Given the description of an element on the screen output the (x, y) to click on. 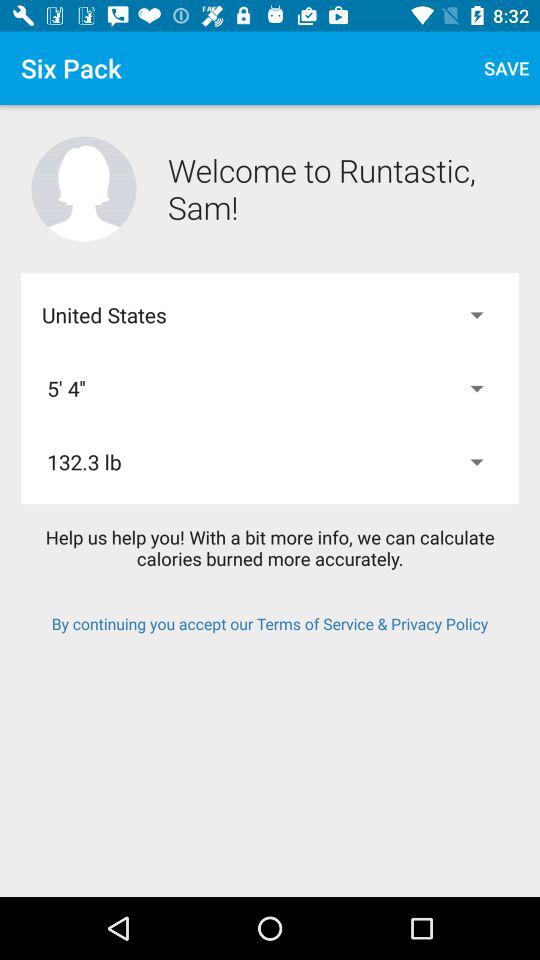
select 5' 4'' icon (269, 388)
